Given the description of an element on the screen output the (x, y) to click on. 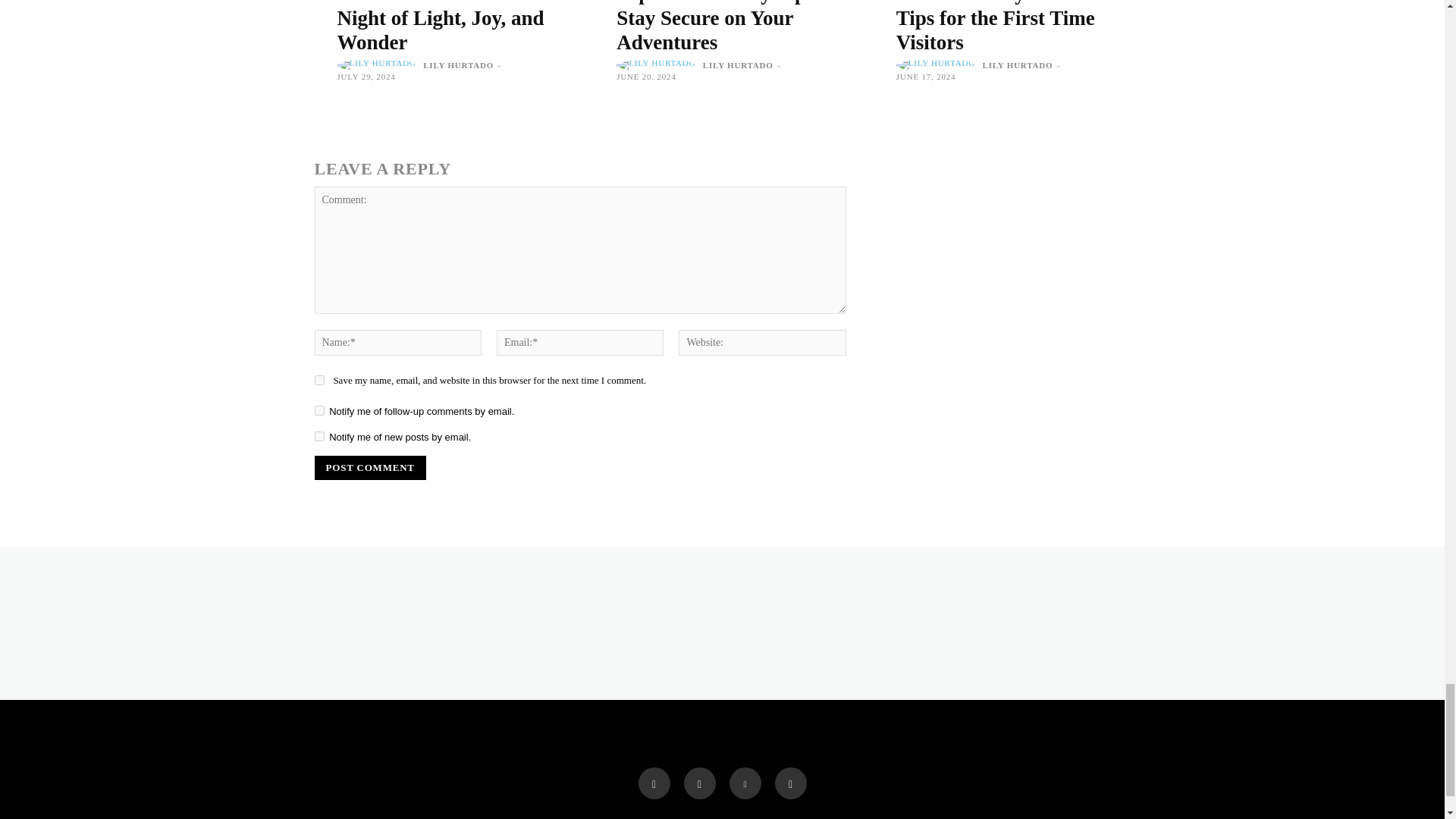
yes (318, 379)
Post Comment (369, 467)
subscribe (318, 410)
subscribe (318, 436)
